Given the description of an element on the screen output the (x, y) to click on. 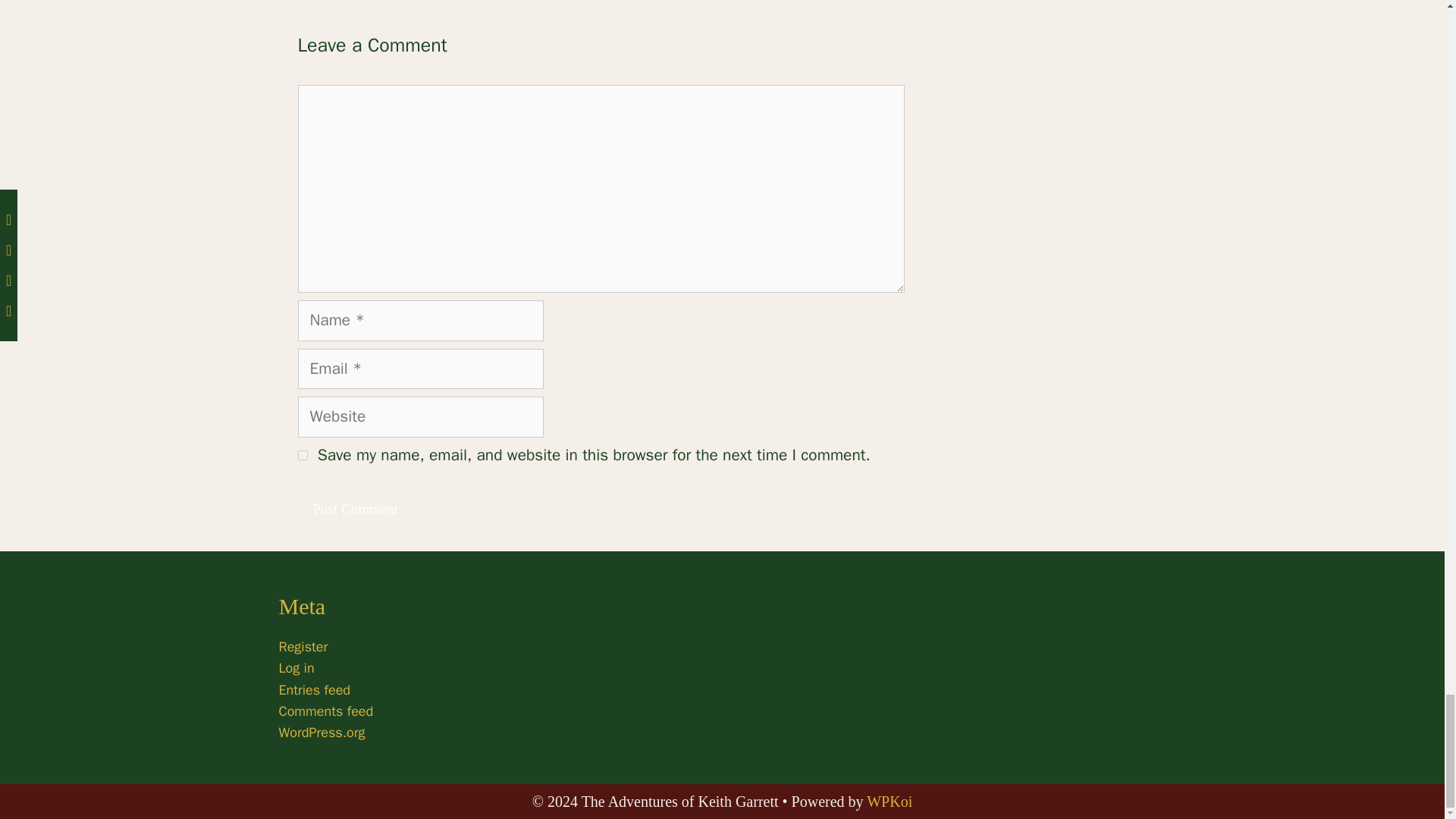
Post Comment (354, 509)
Post Comment (354, 509)
yes (302, 455)
